Given the description of an element on the screen output the (x, y) to click on. 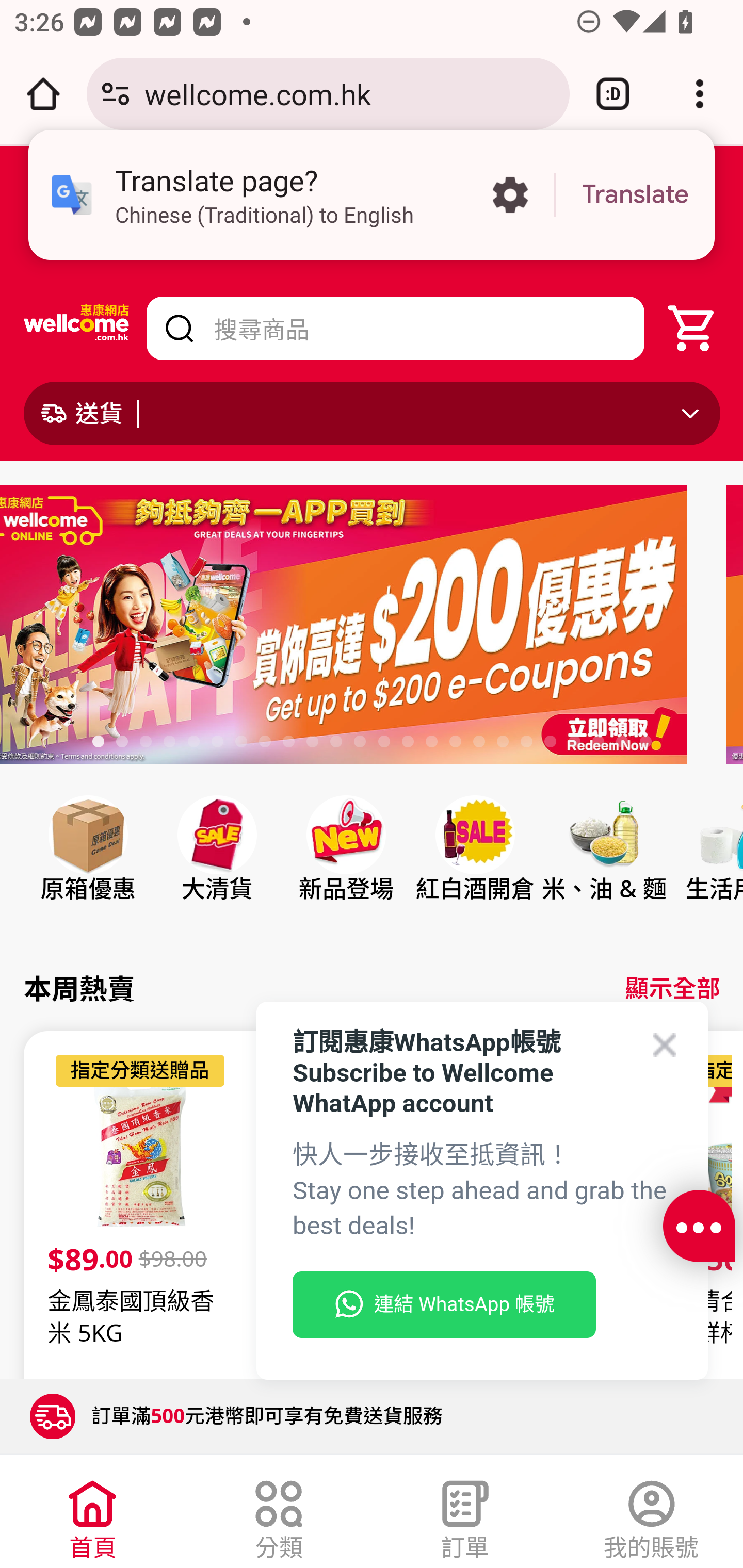
Open the home page (43, 93)
Connection is secure (115, 93)
Switch or close tabs (612, 93)
Customize and control Google Chrome (699, 93)
wellcome.com.hk (349, 92)
More options in the Translate page? (509, 195)
關閉 (196, 207)
superwebShopLogo.3b0eb27 (77, 328)
原箱優惠 d10f707e-149a-4982-83eb-a14dff1023b9_ 原箱優惠 (88, 866)
大清貨 fb3d2098-2b71-4a22-8b7a-8564a484a8d9_ 大清貨 (217, 866)
新品登場 f53d076d-b18e-4ef9-af9c-a2174ee44d64_ 新品登場 (346, 866)
紅白酒開倉 d20d092c-bb77-4b6f-874c-2e8460a48e51_ 紅白酒開倉 (474, 866)
顯示全部 (671, 988)
javascript:; (699, 1226)
連結 WhatsApp 帳號 (443, 1305)
首頁 (92, 1515)
分類 (278, 1515)
訂單 (464, 1515)
我的賬號 (650, 1515)
